Given the description of an element on the screen output the (x, y) to click on. 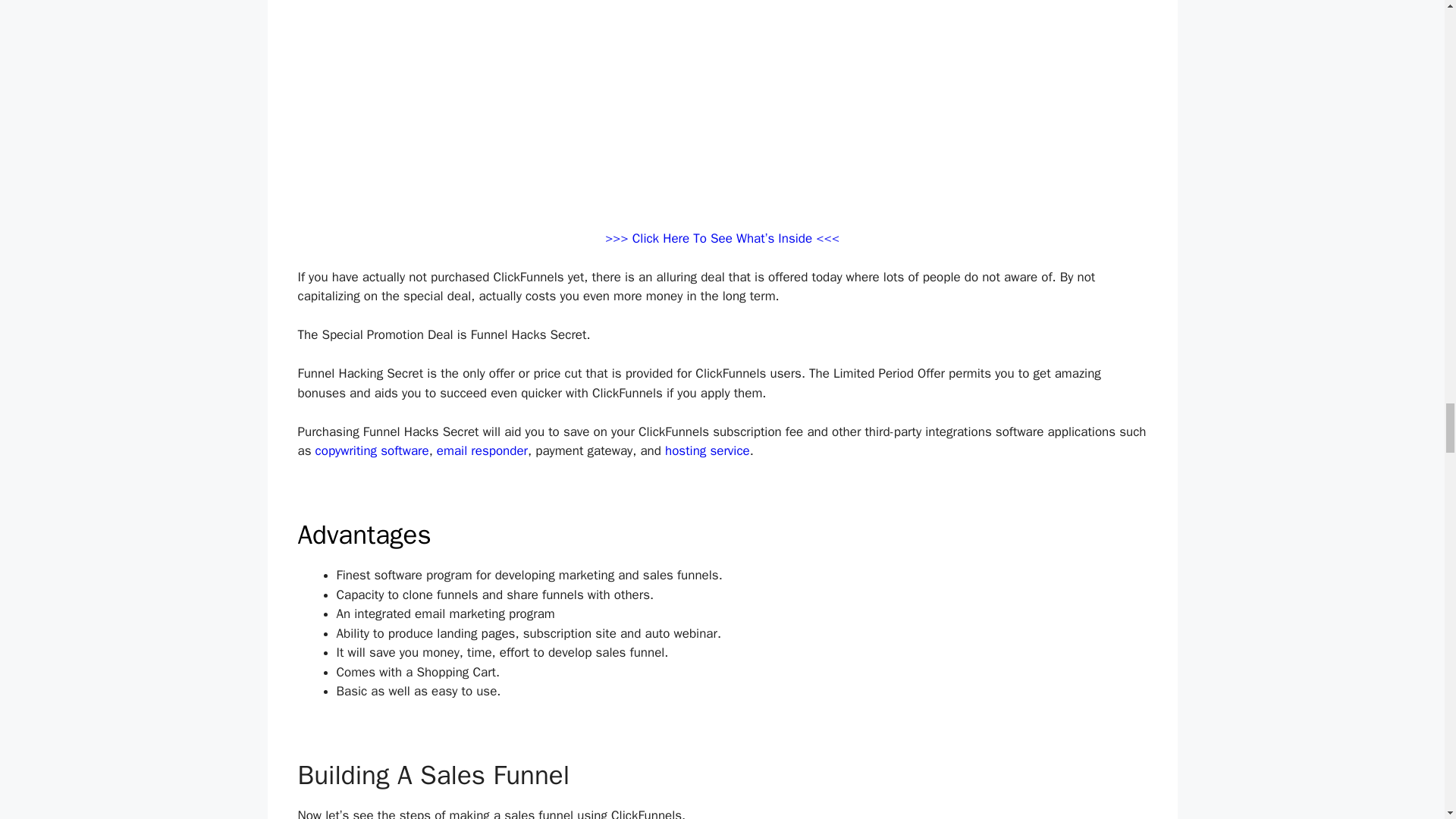
email responder (481, 450)
copywriting software (372, 450)
